Given the description of an element on the screen output the (x, y) to click on. 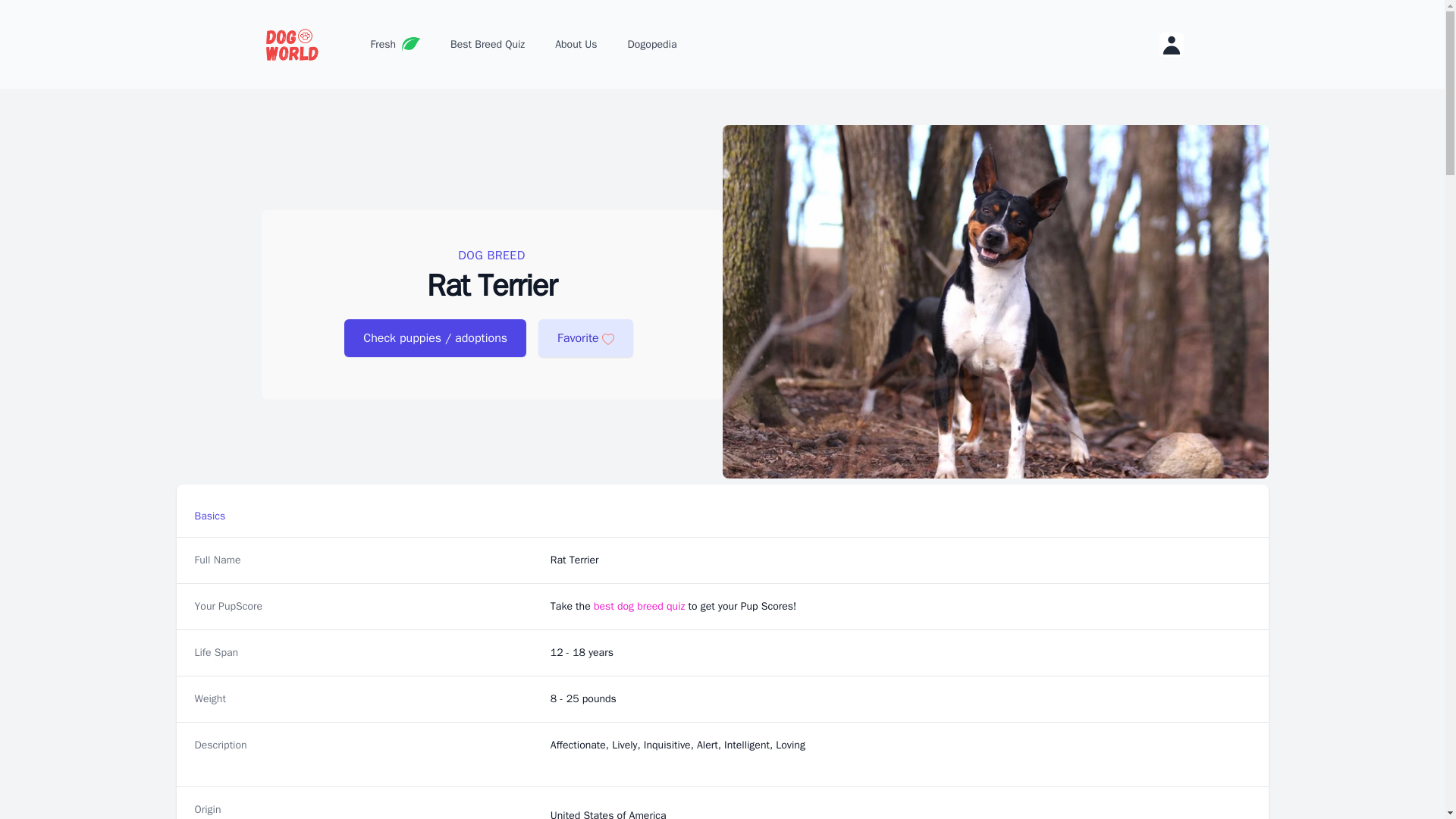
best dog breed quiz (639, 605)
About Us (575, 44)
Favorite (585, 338)
Fresh (395, 44)
Dogopedia (651, 44)
Best Breed Quiz (487, 44)
